Given the description of an element on the screen output the (x, y) to click on. 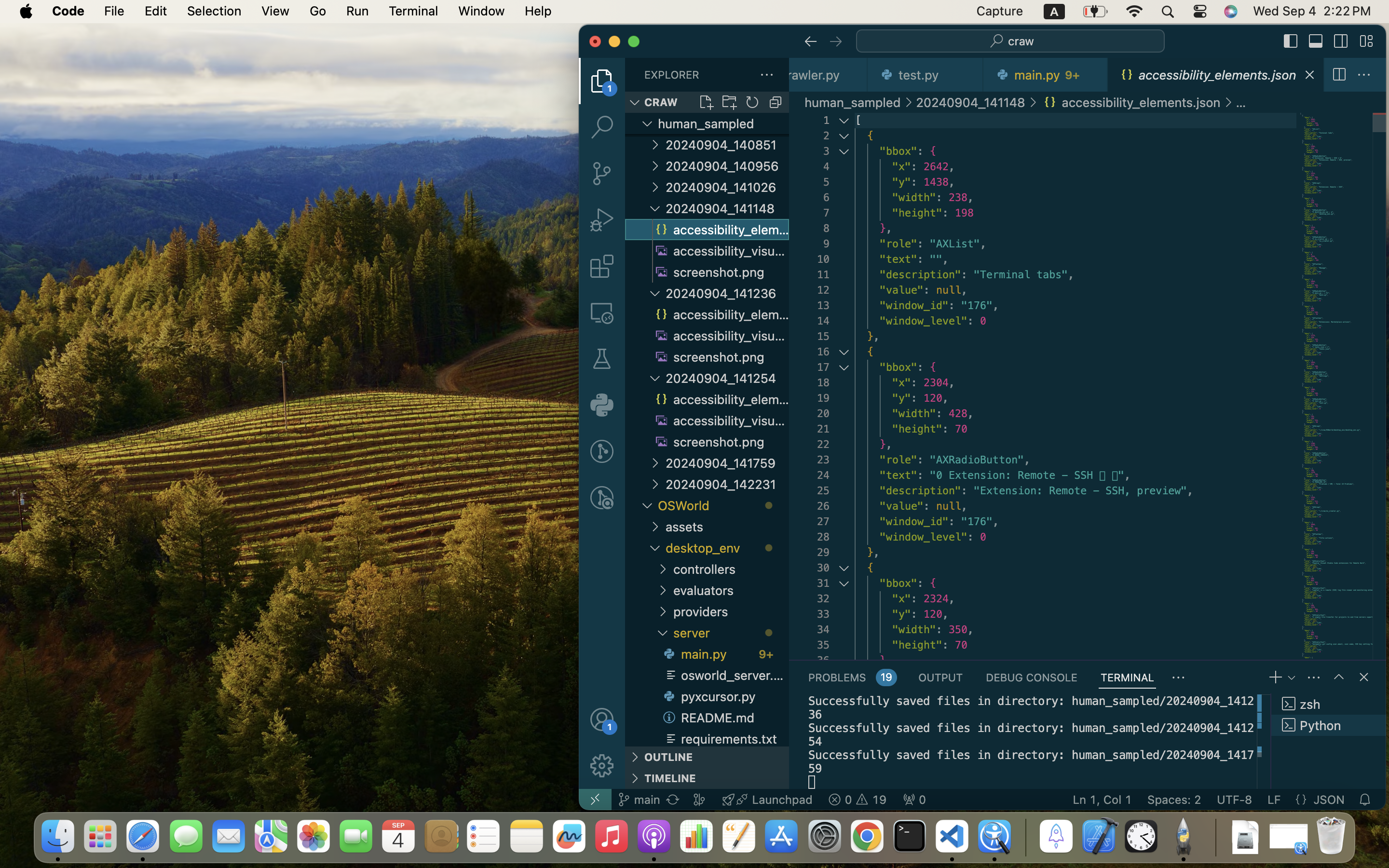
TIMELINE  Element type: AXButton (707, 777)
20240904_141236 Element type: AXGroup (727, 292)
 Element type: AXButton (835, 41)
20240904_141026 Element type: AXGroup (727, 186)
 Element type: AXCheckBox (1291, 41)
